Given the description of an element on the screen output the (x, y) to click on. 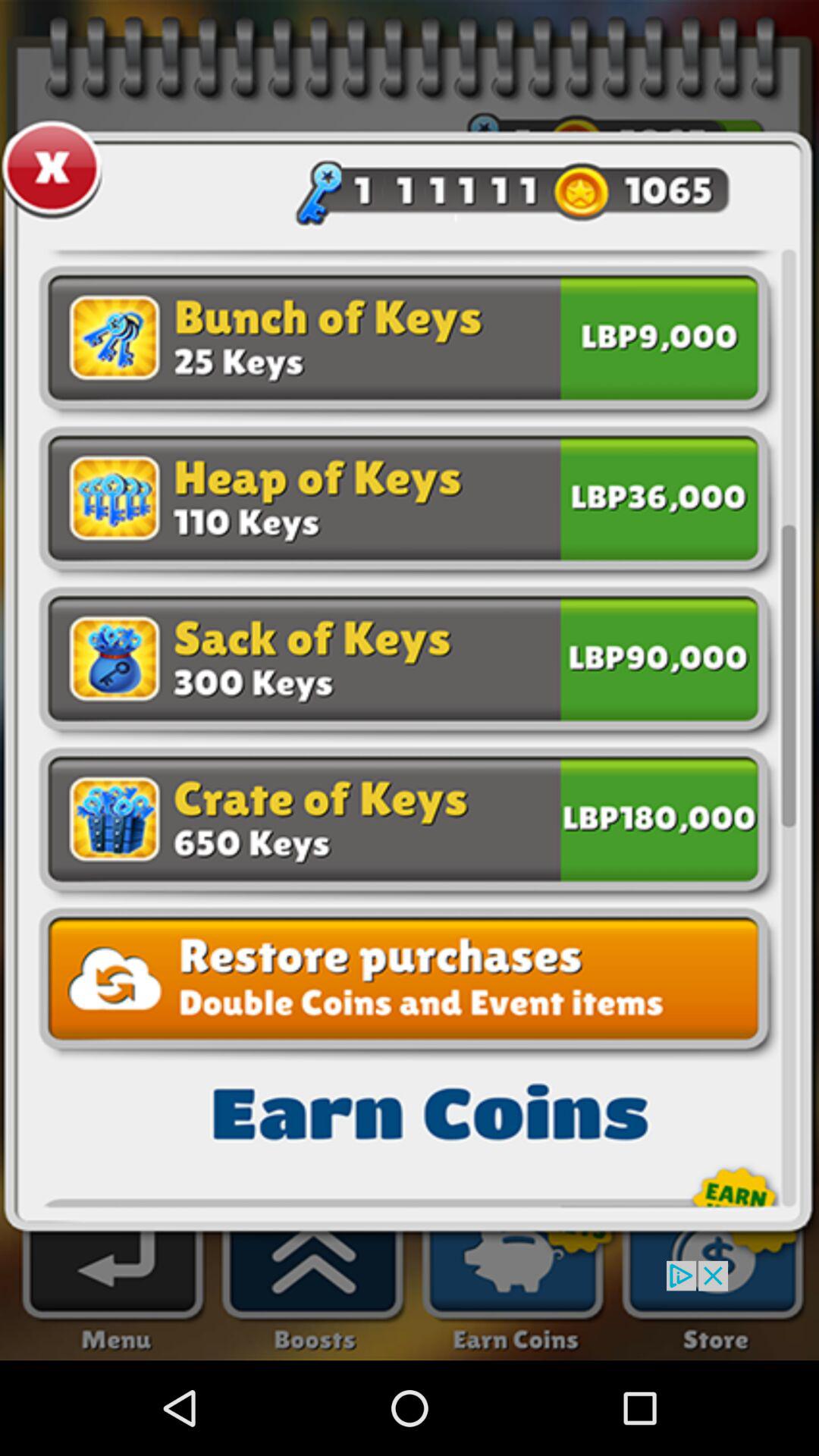
purchase item (659, 816)
